Given the description of an element on the screen output the (x, y) to click on. 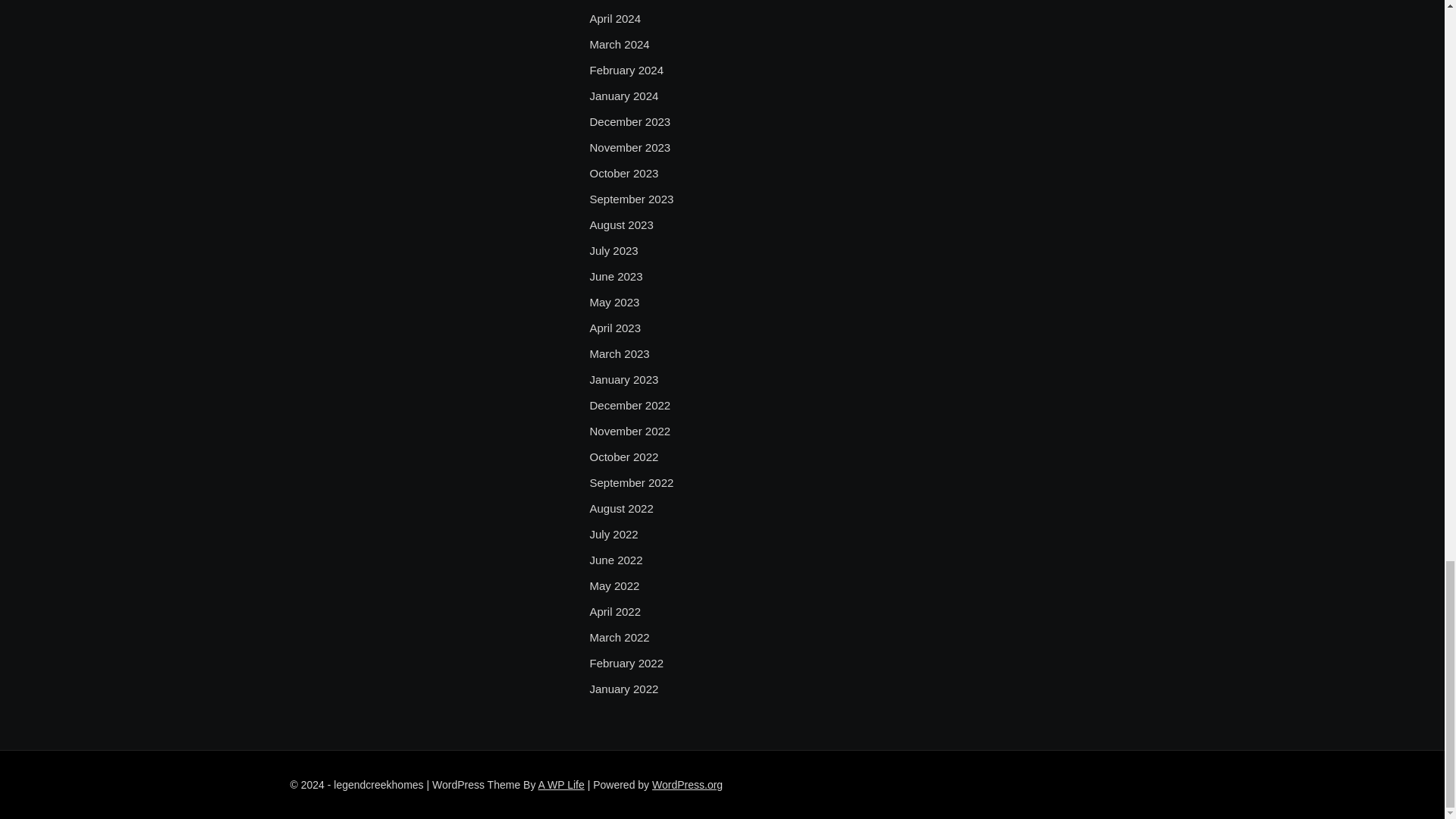
August 2023 (620, 225)
April 2024 (614, 18)
July 2023 (613, 250)
September 2023 (630, 199)
January 2024 (623, 95)
December 2022 (629, 405)
May 2024 (614, 1)
March 2023 (619, 353)
October 2023 (623, 173)
April 2023 (614, 328)
January 2023 (623, 380)
May 2023 (614, 302)
October 2022 (623, 456)
November 2023 (629, 147)
June 2023 (615, 276)
